Given the description of an element on the screen output the (x, y) to click on. 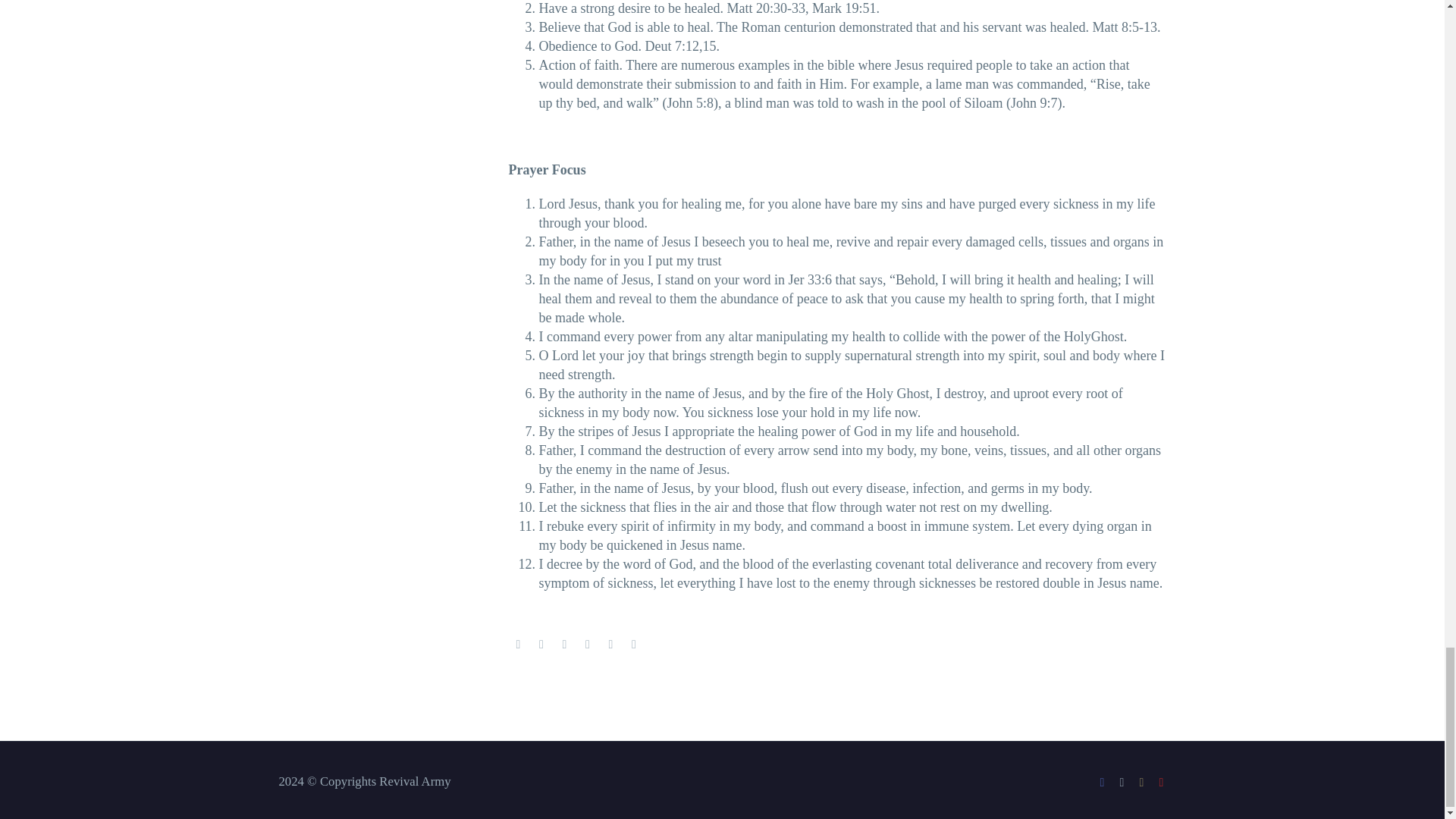
Pinterest (563, 644)
LinkedIn (611, 644)
Reddit (633, 644)
Facebook (518, 644)
Twitter (541, 644)
Tumblr (587, 644)
